Given the description of an element on the screen output the (x, y) to click on. 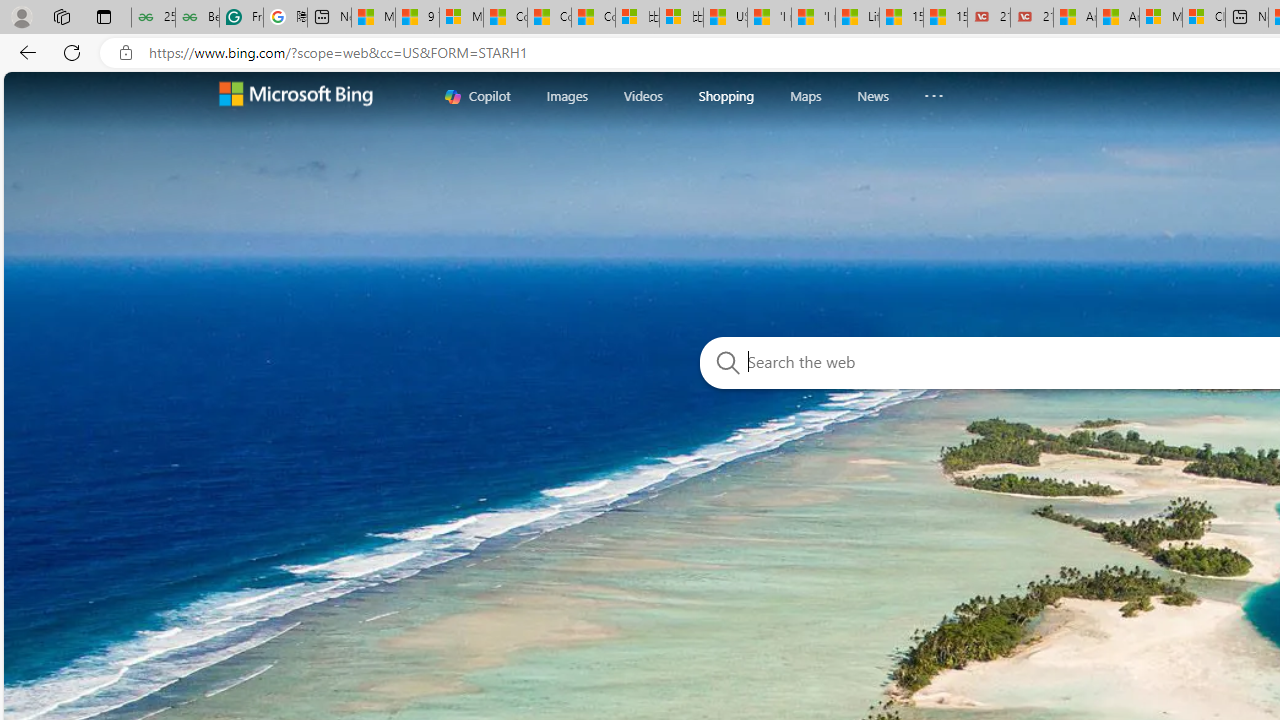
25 Basic Linux Commands For Beginners - GeeksforGeeks (153, 17)
Maps (805, 95)
Cloud Computing Services | Microsoft Azure (1203, 17)
